Given the description of an element on the screen output the (x, y) to click on. 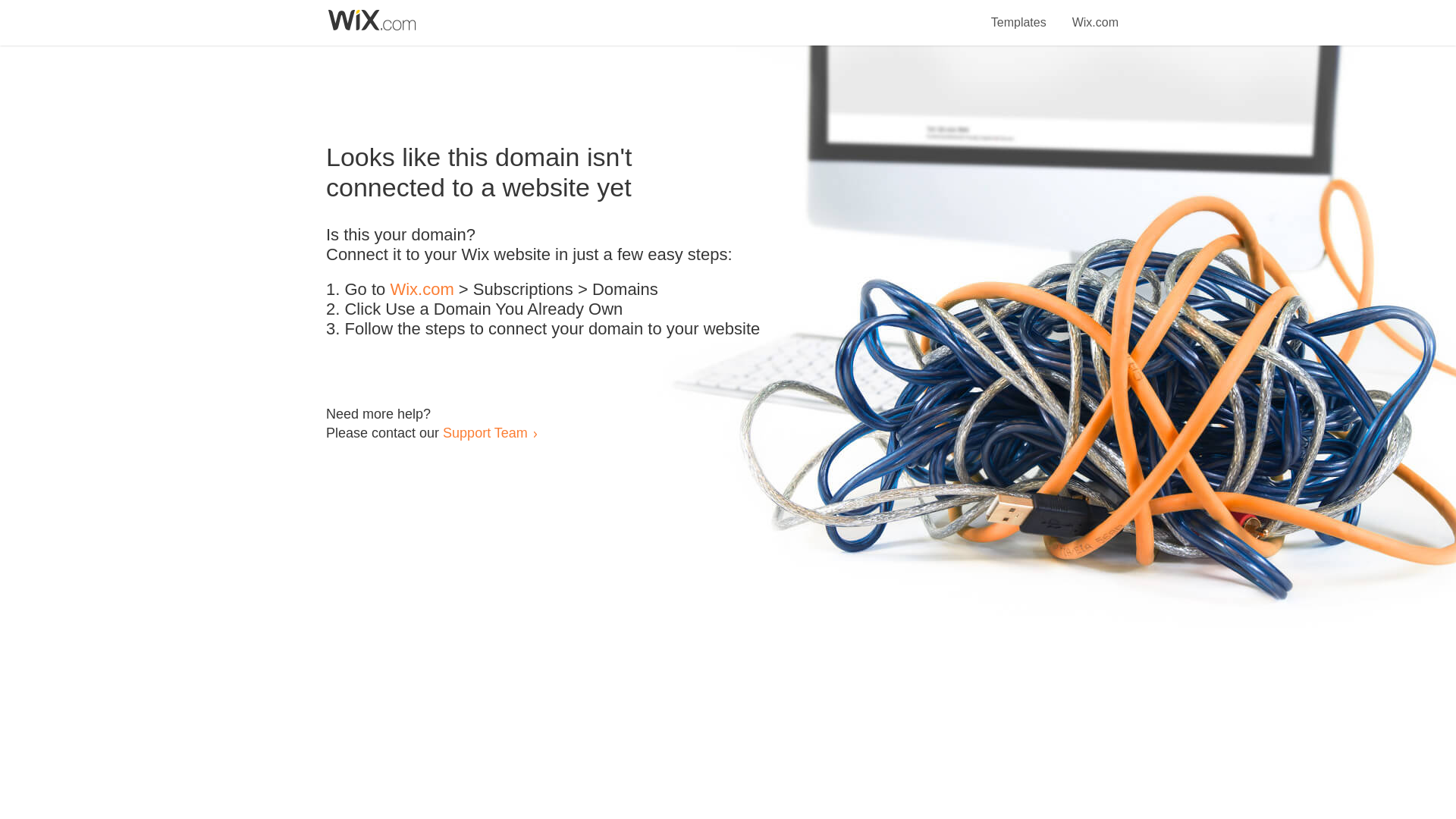
Wix.com (421, 289)
Support Team (484, 432)
Templates (1018, 14)
Wix.com (1095, 14)
